Given the description of an element on the screen output the (x, y) to click on. 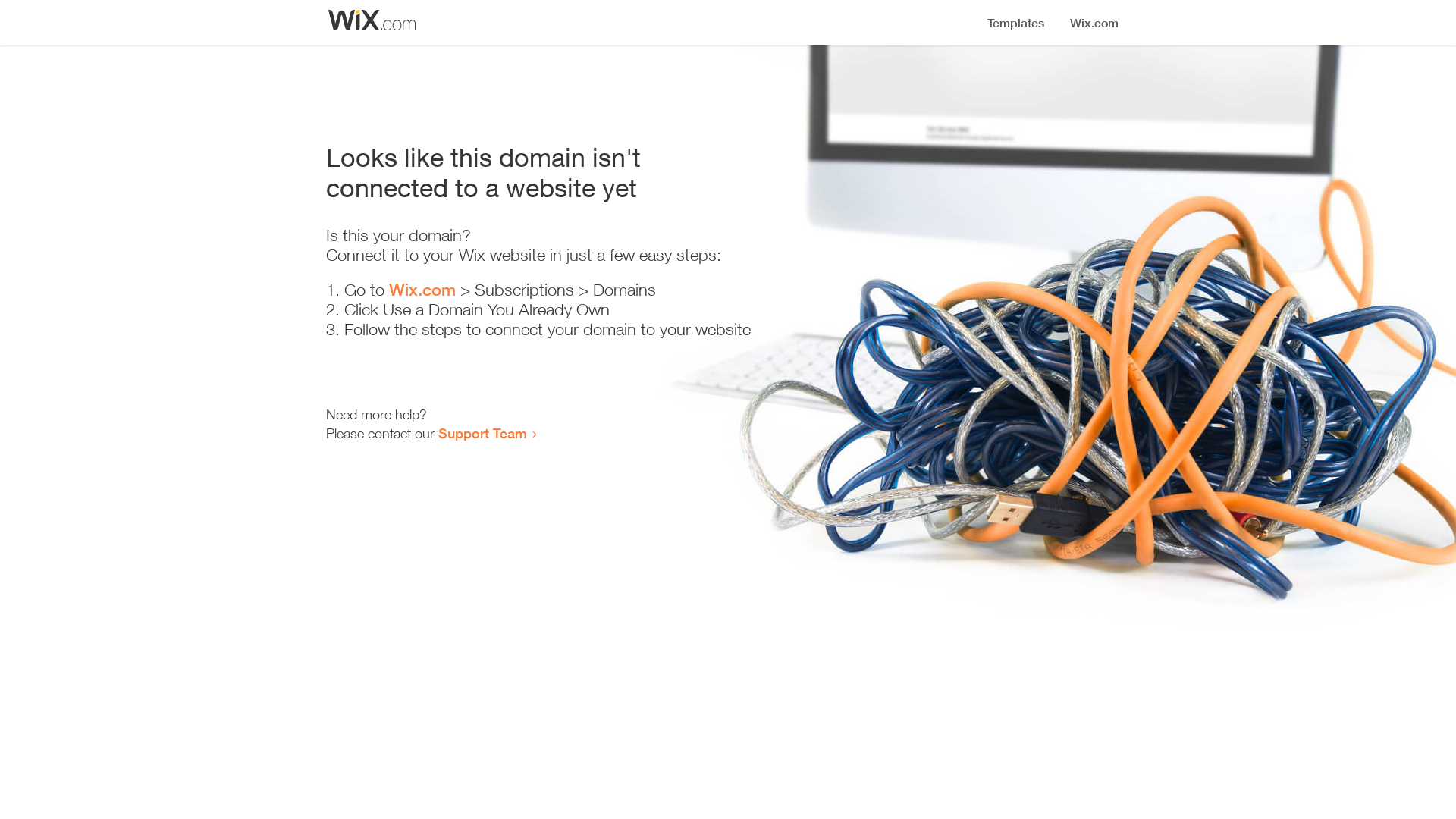
Support Team Element type: text (482, 432)
Wix.com Element type: text (422, 289)
